Given the description of an element on the screen output the (x, y) to click on. 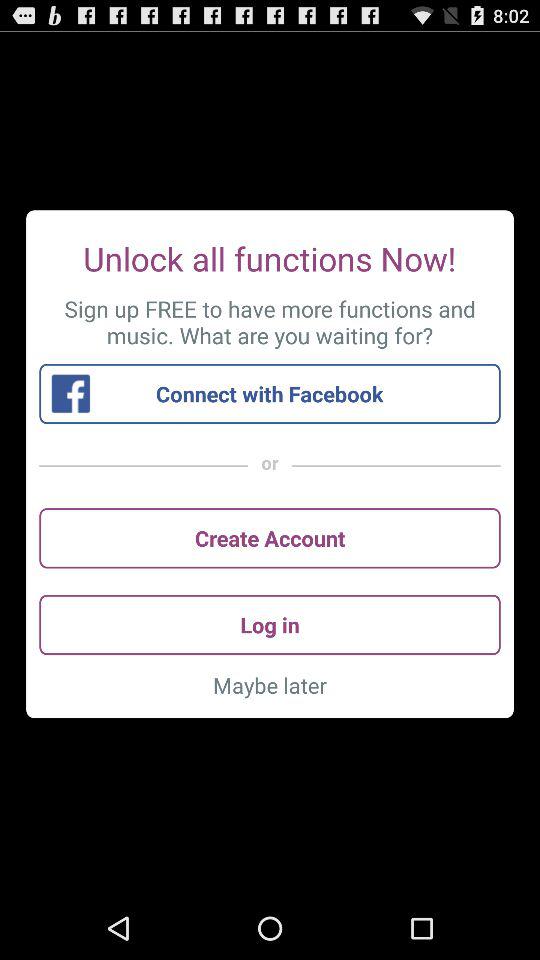
turn off create account button (269, 538)
